Given the description of an element on the screen output the (x, y) to click on. 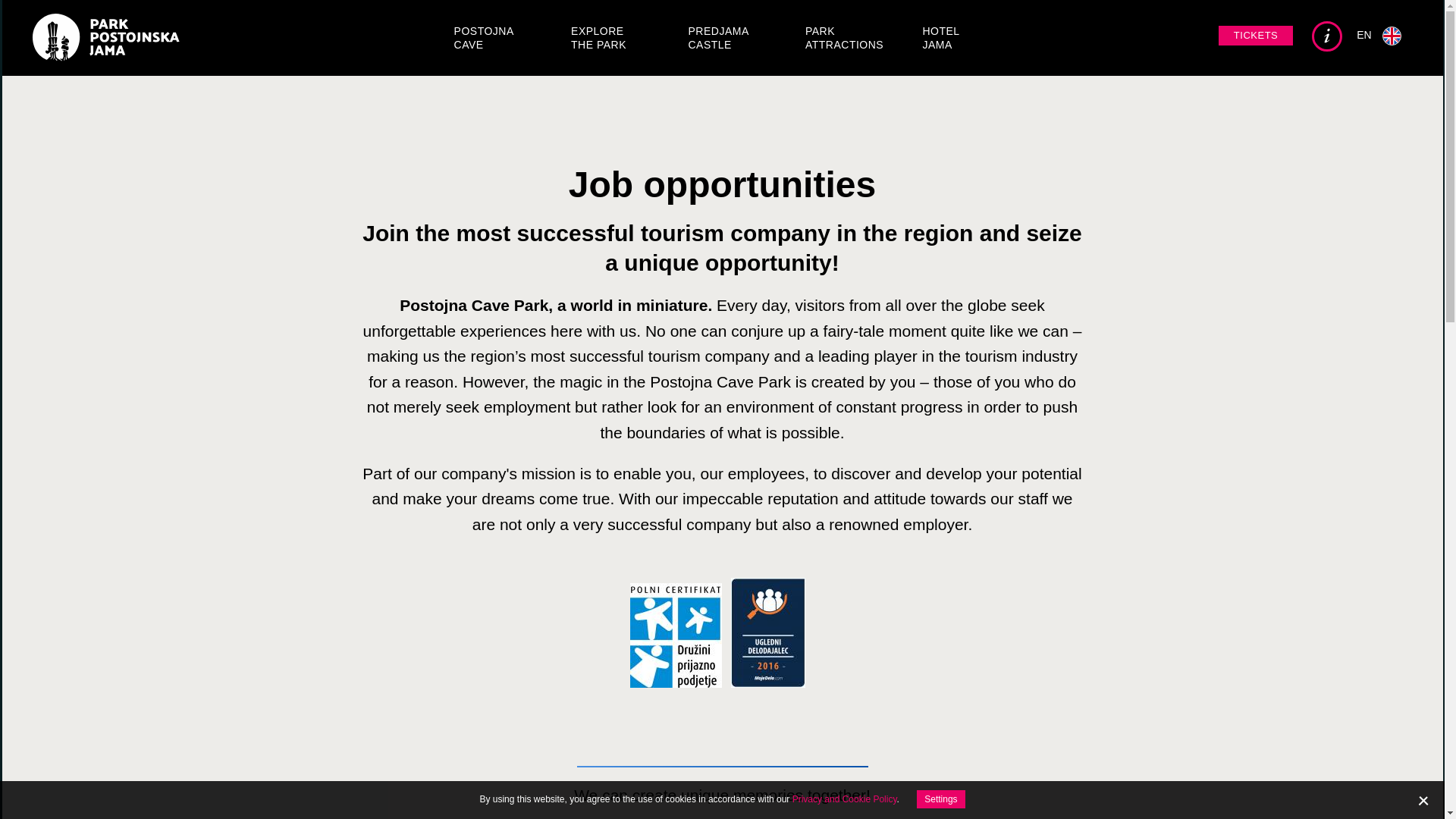
Hotel Jama (940, 37)
HOTEL JAMA (940, 37)
PARK ATTRACTIONS (844, 37)
Postojna Cave (483, 37)
POSTOJNA CAVE (483, 37)
Info (1326, 36)
Park Attractions (844, 37)
Explore the Park (598, 37)
PREDJAMA CASTLE (718, 37)
EXPLORE THE PARK (598, 37)
Predjama Castle (718, 37)
TICKETS (1255, 35)
